Given the description of an element on the screen output the (x, y) to click on. 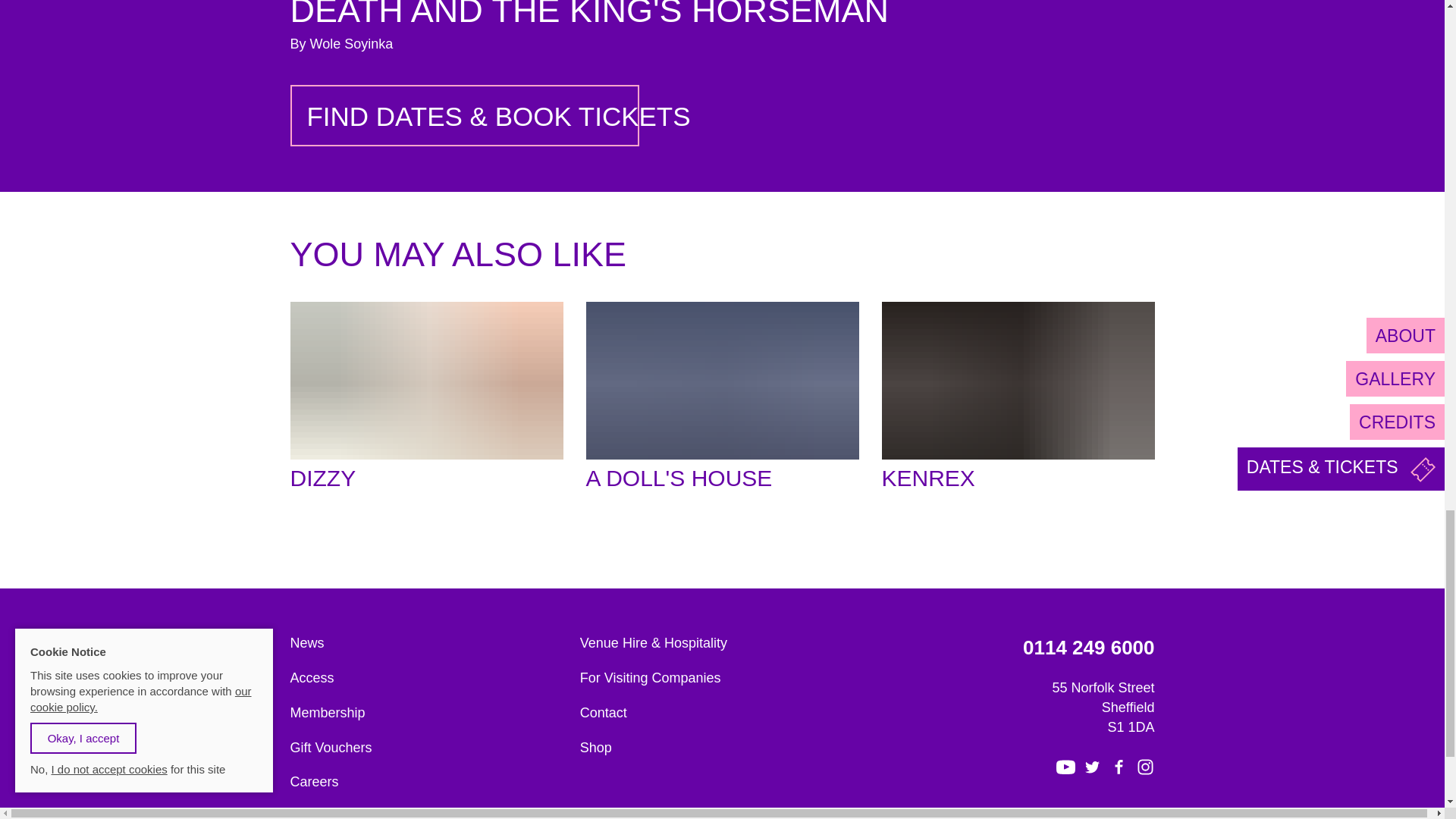
Membership (427, 713)
Contact (717, 713)
News (427, 643)
Access (427, 678)
DIZZY (425, 399)
A DOLL'S HOUSE (722, 399)
Gift Vouchers (427, 748)
Careers (427, 782)
For Visiting Companies (717, 678)
KENREX (1017, 399)
